Given the description of an element on the screen output the (x, y) to click on. 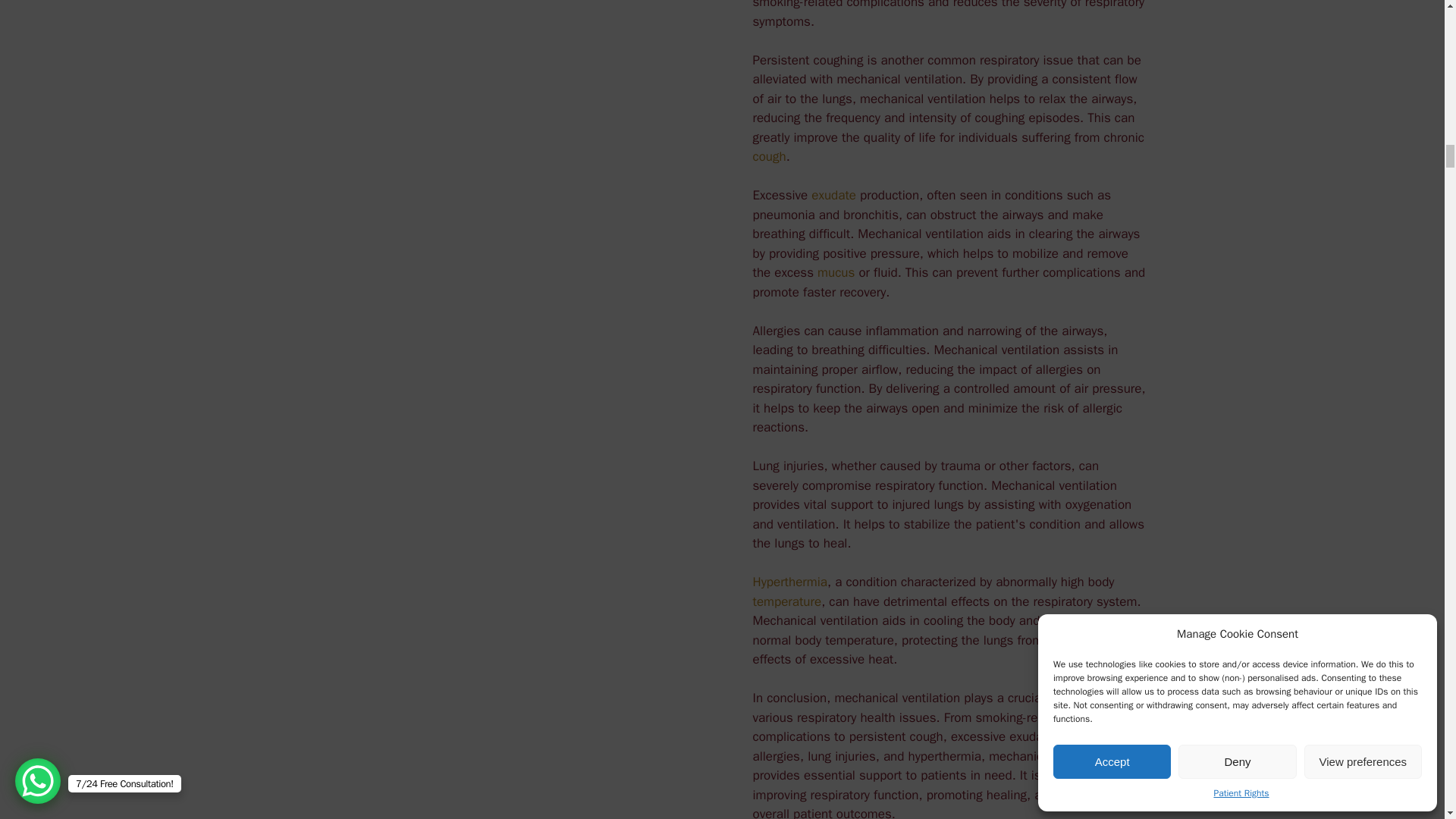
mucus (835, 272)
exudate (833, 195)
cough (769, 156)
